Given the description of an element on the screen output the (x, y) to click on. 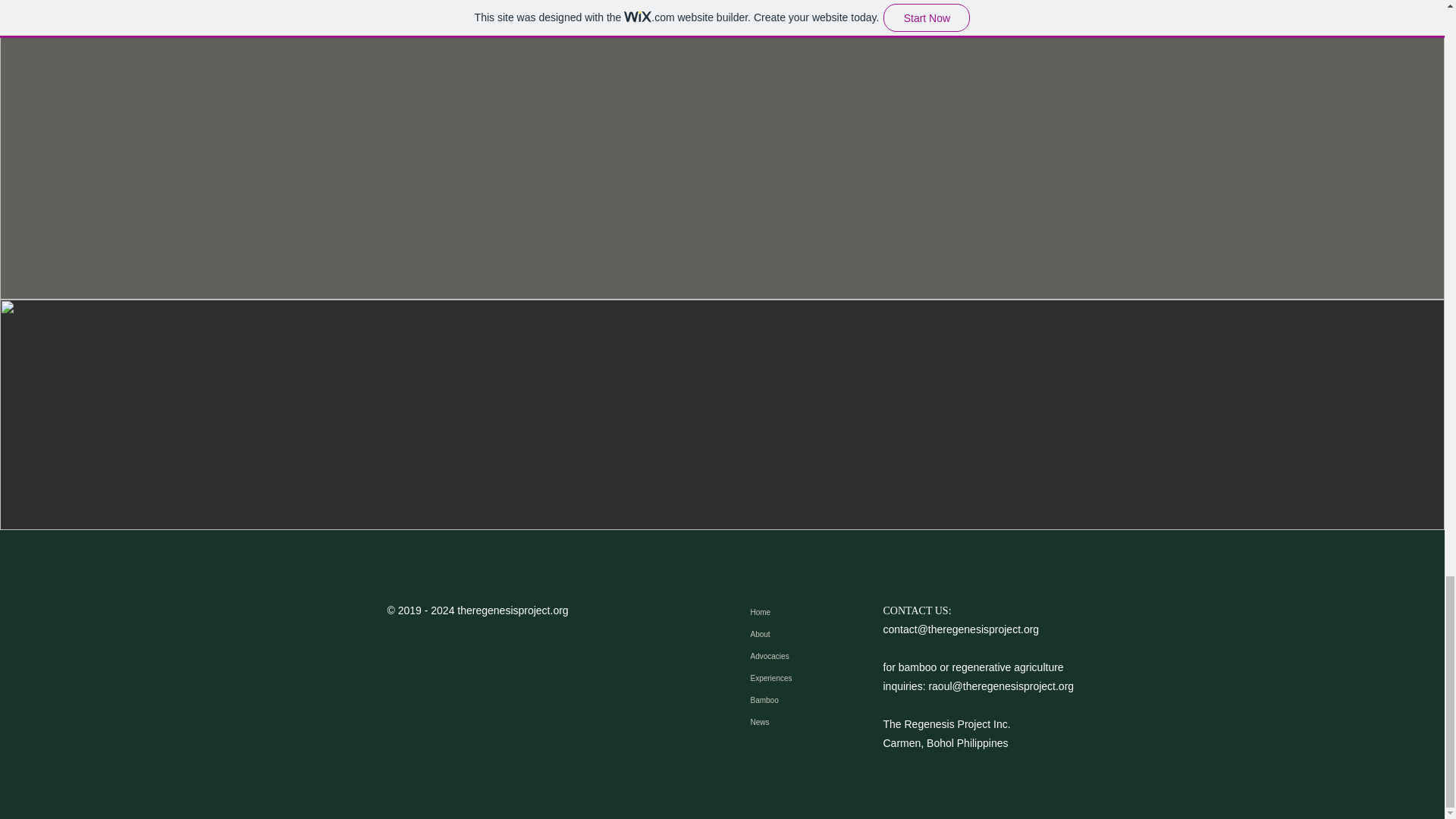
Home (789, 612)
Bamboo (789, 700)
Advocacies (789, 656)
About (789, 634)
Experiences (789, 678)
News (789, 722)
